Given the description of an element on the screen output the (x, y) to click on. 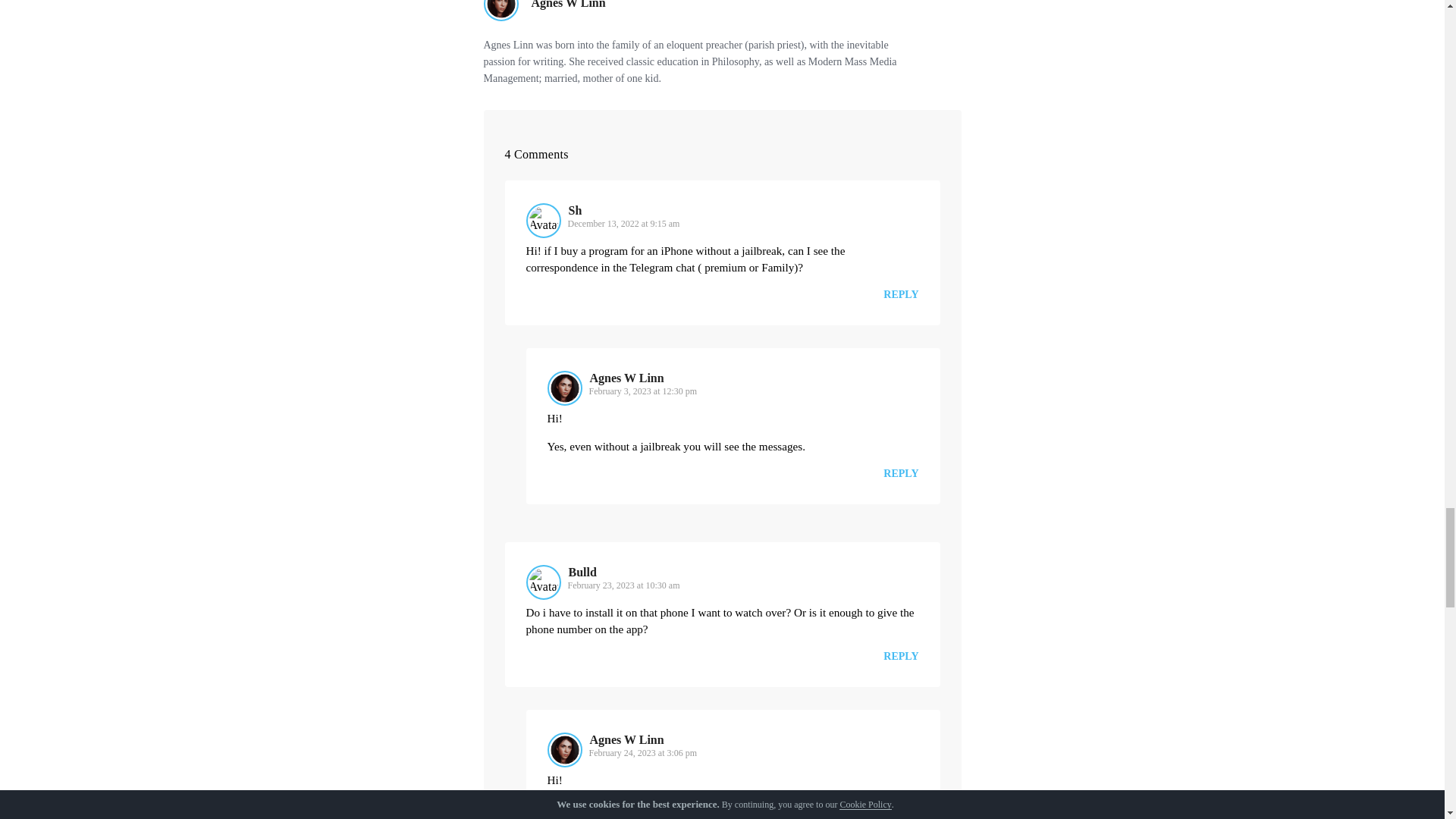
Agnes W Linn (568, 4)
REPLY (900, 294)
February 24, 2023 at 3:06 pm (642, 752)
February 23, 2023 at 10:30 am (623, 584)
Scannero.io (763, 818)
REPLY (900, 656)
December 13, 2022 at 9:15 am (623, 223)
REPLY (900, 473)
February 3, 2023 at 12:30 pm (642, 390)
